Given the description of an element on the screen output the (x, y) to click on. 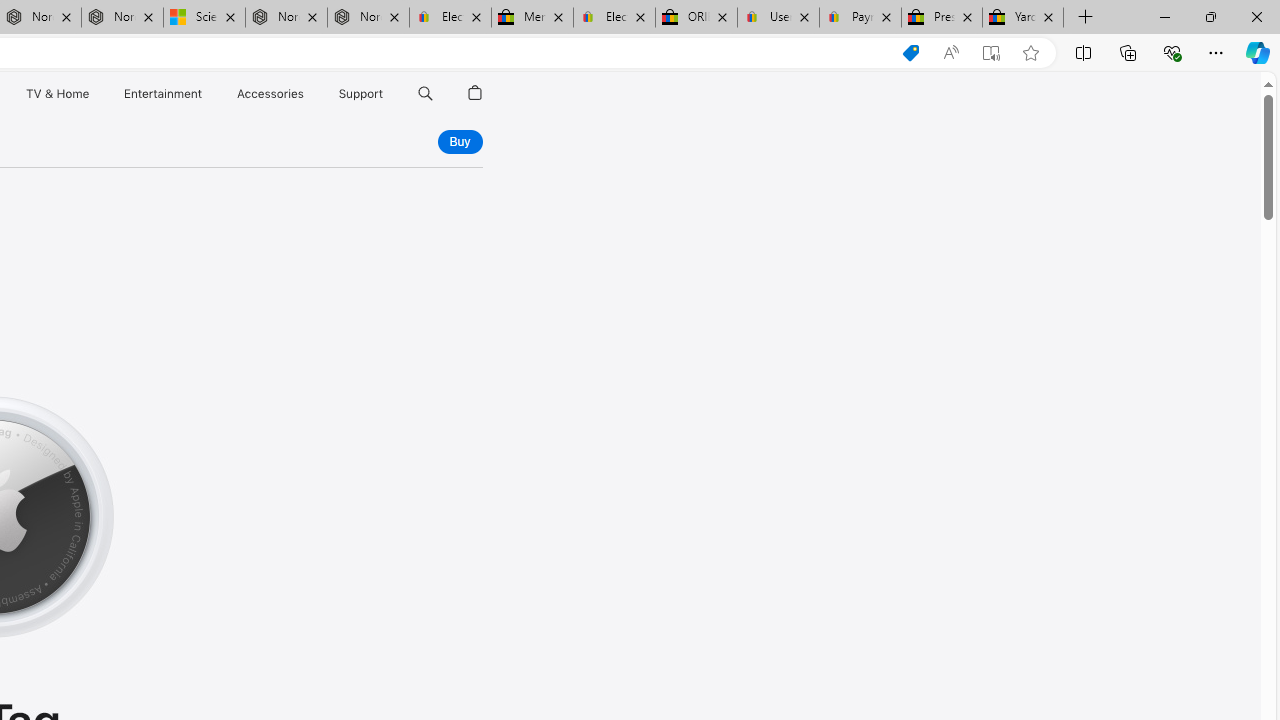
TV and Home menu (92, 93)
Entertainment menu (205, 93)
TV & Home (56, 93)
Electronics, Cars, Fashion, Collectibles & More | eBay (614, 17)
Press Room - eBay Inc. (941, 17)
Yard, Garden & Outdoor Living (1023, 17)
Class: globalnav-submenu-trigger-item (387, 93)
Accessories menu (306, 93)
User Privacy Notice | eBay (778, 17)
